Given the description of an element on the screen output the (x, y) to click on. 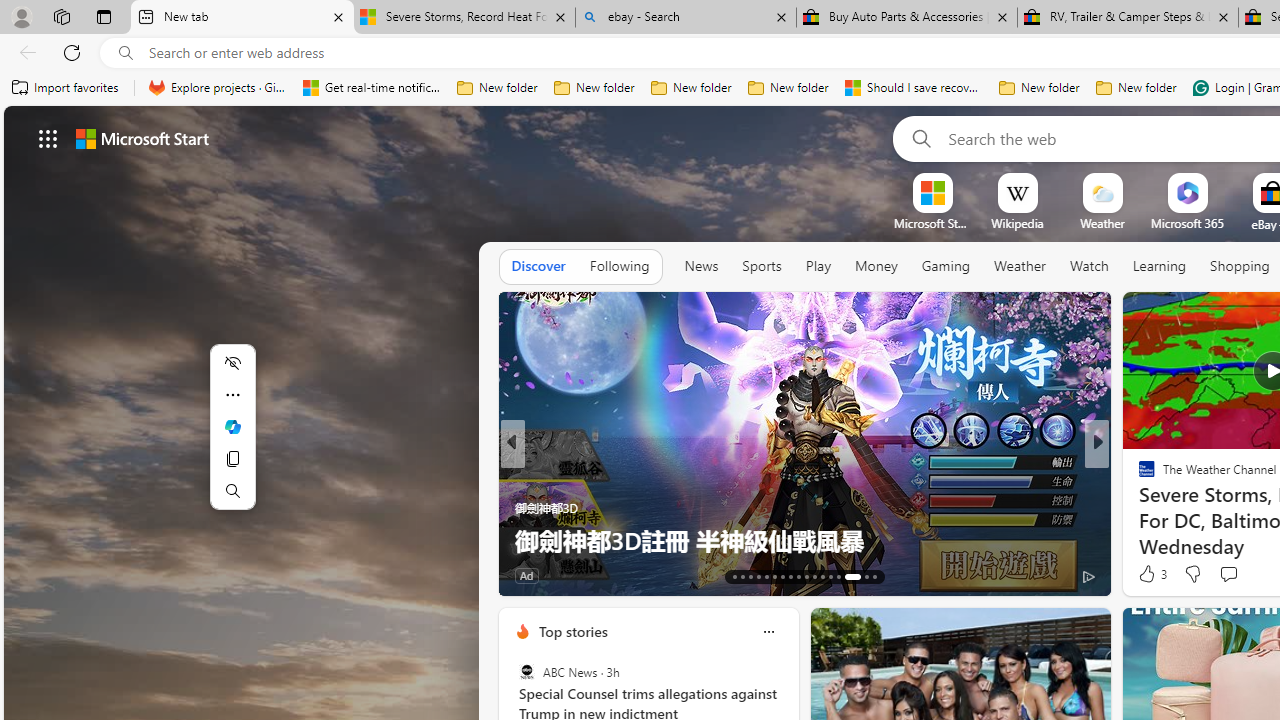
Discover (538, 265)
To get missing image descriptions, open the context menu. (932, 192)
View comments 96 Comment (11, 575)
AutomationID: tab-18 (774, 576)
RV, Trailer & Camper Steps & Ladders for sale | eBay (1127, 17)
99 Like (1149, 574)
Sports (761, 265)
Hide menu (232, 362)
Money (875, 265)
Gaming (945, 265)
AutomationID: tab-20 (789, 576)
Start the conversation (1228, 573)
More actions (232, 394)
AutomationID: tab-24 (821, 576)
